Given the description of an element on the screen output the (x, y) to click on. 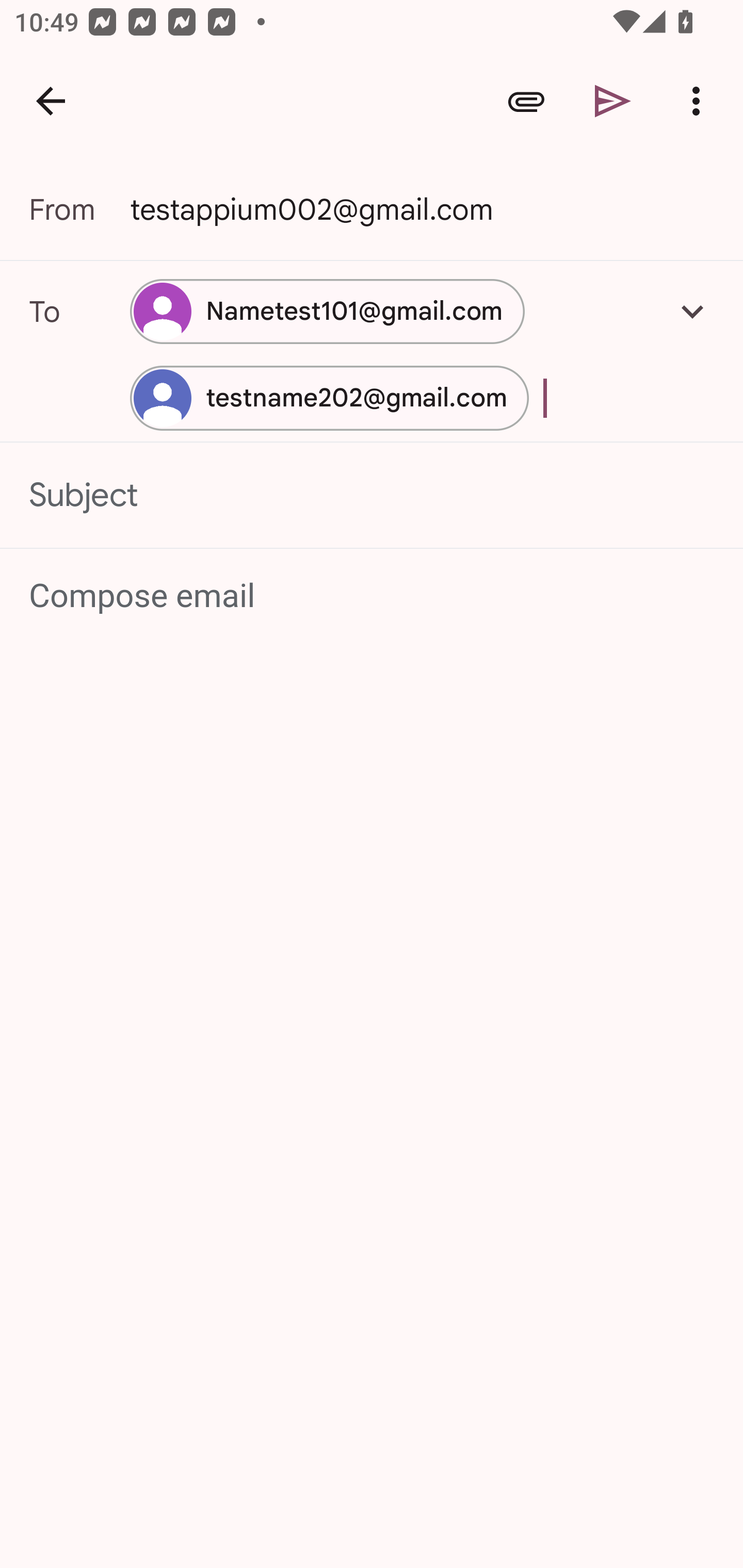
Navigate up (50, 101)
Attach file (525, 101)
Send (612, 101)
More options (699, 101)
From (79, 209)
Add Cc/Bcc (692, 311)
Subject (371, 494)
Compose email (372, 595)
